Given the description of an element on the screen output the (x, y) to click on. 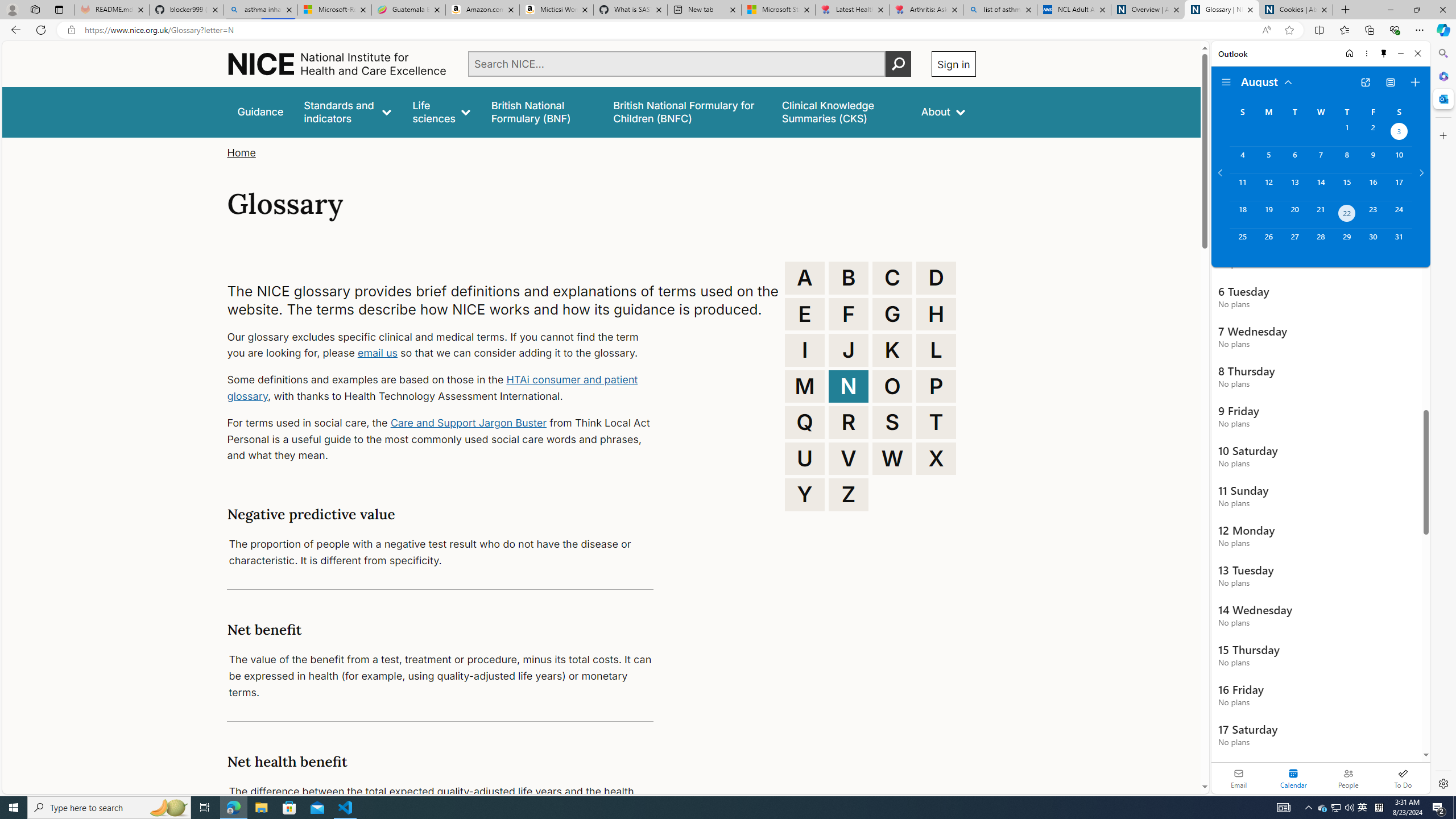
list of asthma inhalers uk - Search (1000, 9)
Home (1348, 53)
N (848, 385)
T (935, 422)
Minimize (1401, 53)
App bar (728, 29)
Q (804, 422)
NCL Adult Asthma Inhaler Choice Guideline (1073, 9)
D (935, 277)
View Switcher. Current view is Agenda view (1390, 82)
Split screen (1318, 29)
Microsoft-Report a Concern to Bing (334, 9)
